Given the description of an element on the screen output the (x, y) to click on. 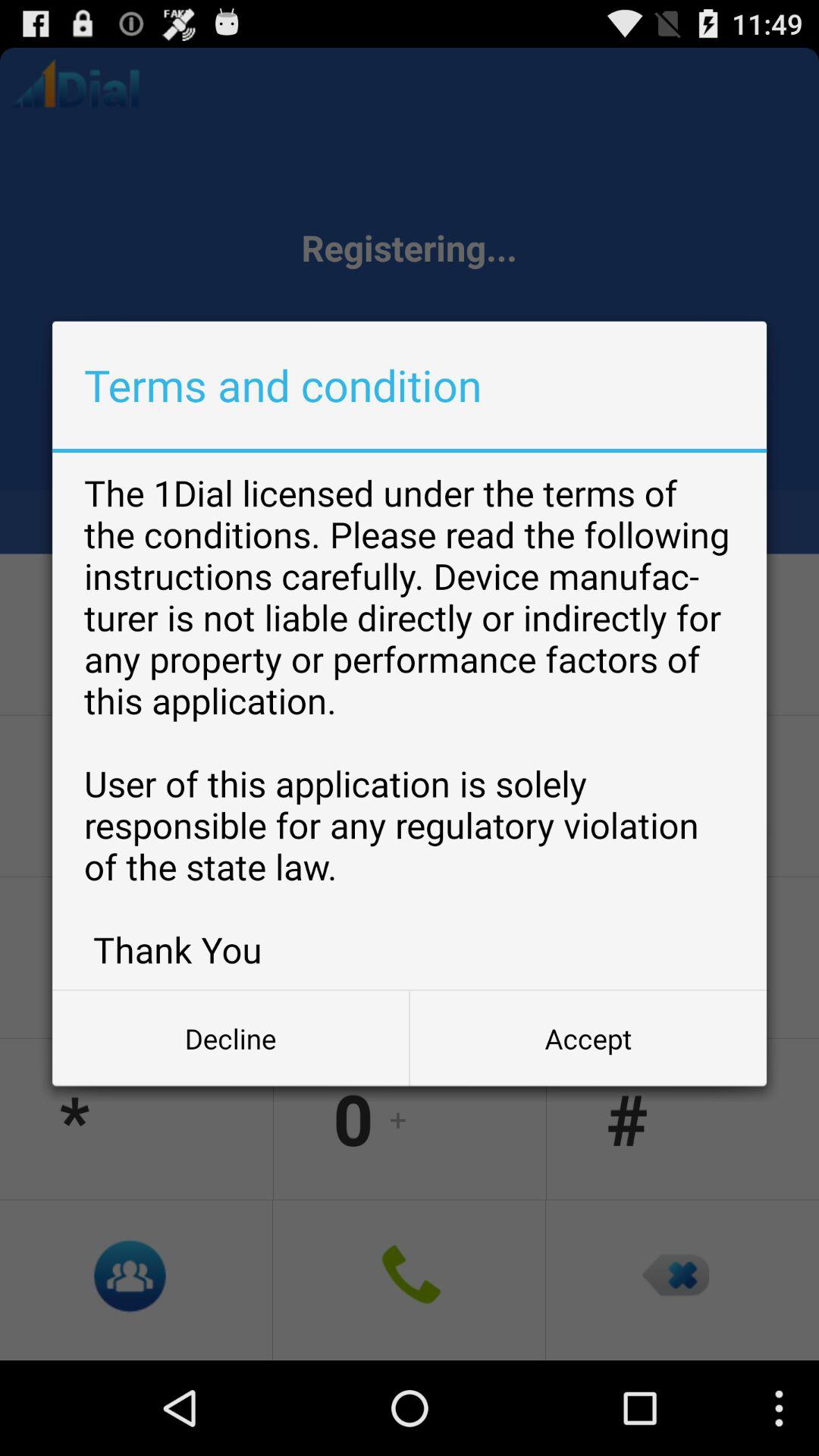
turn on the decline at the bottom left corner (230, 1038)
